Given the description of an element on the screen output the (x, y) to click on. 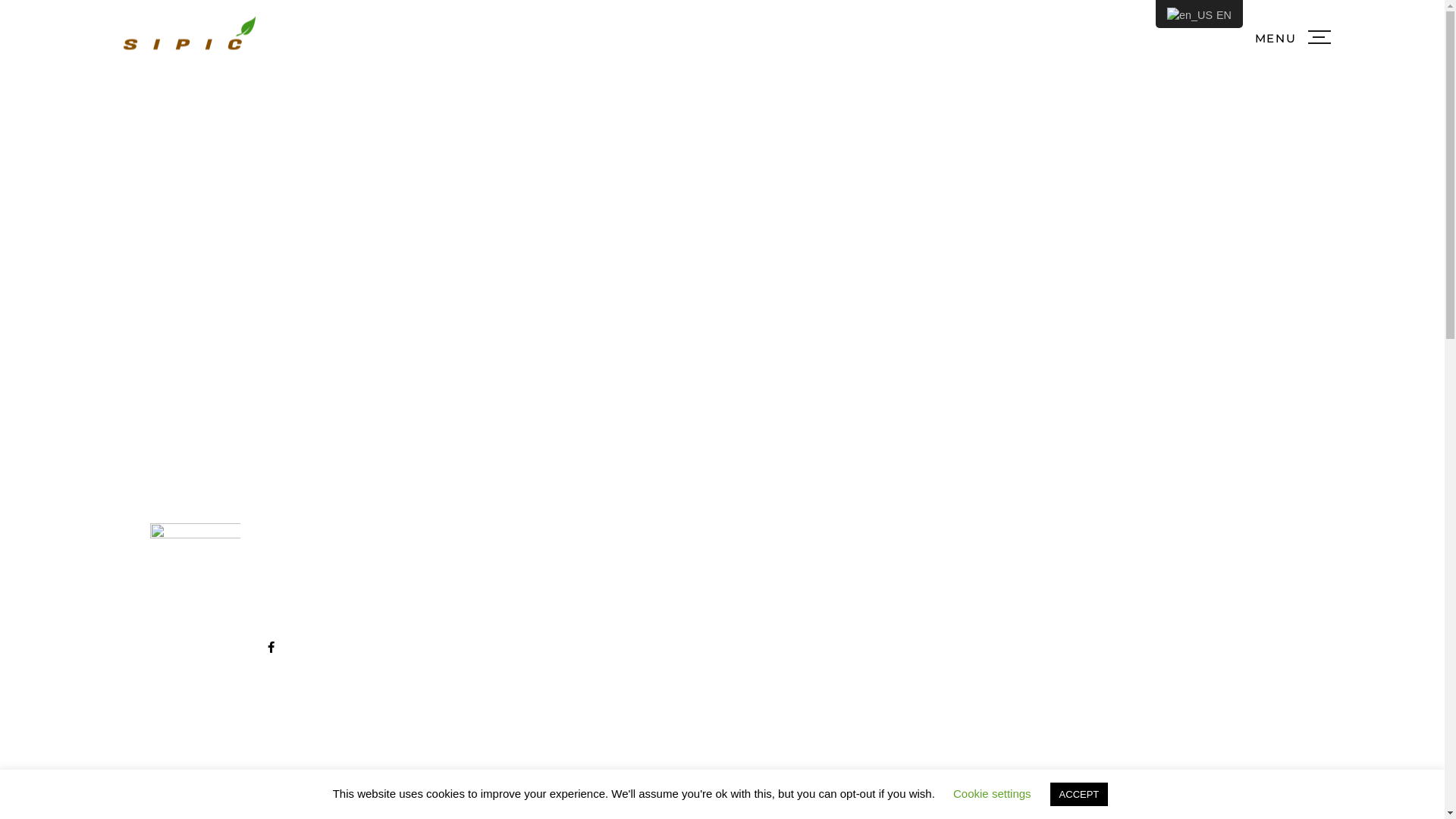
English Element type: hover (1189, 15)
ACCEPT Element type: text (1079, 794)
EN Element type: text (1198, 14)
Cookie settings Element type: text (992, 793)
